Given the description of an element on the screen output the (x, y) to click on. 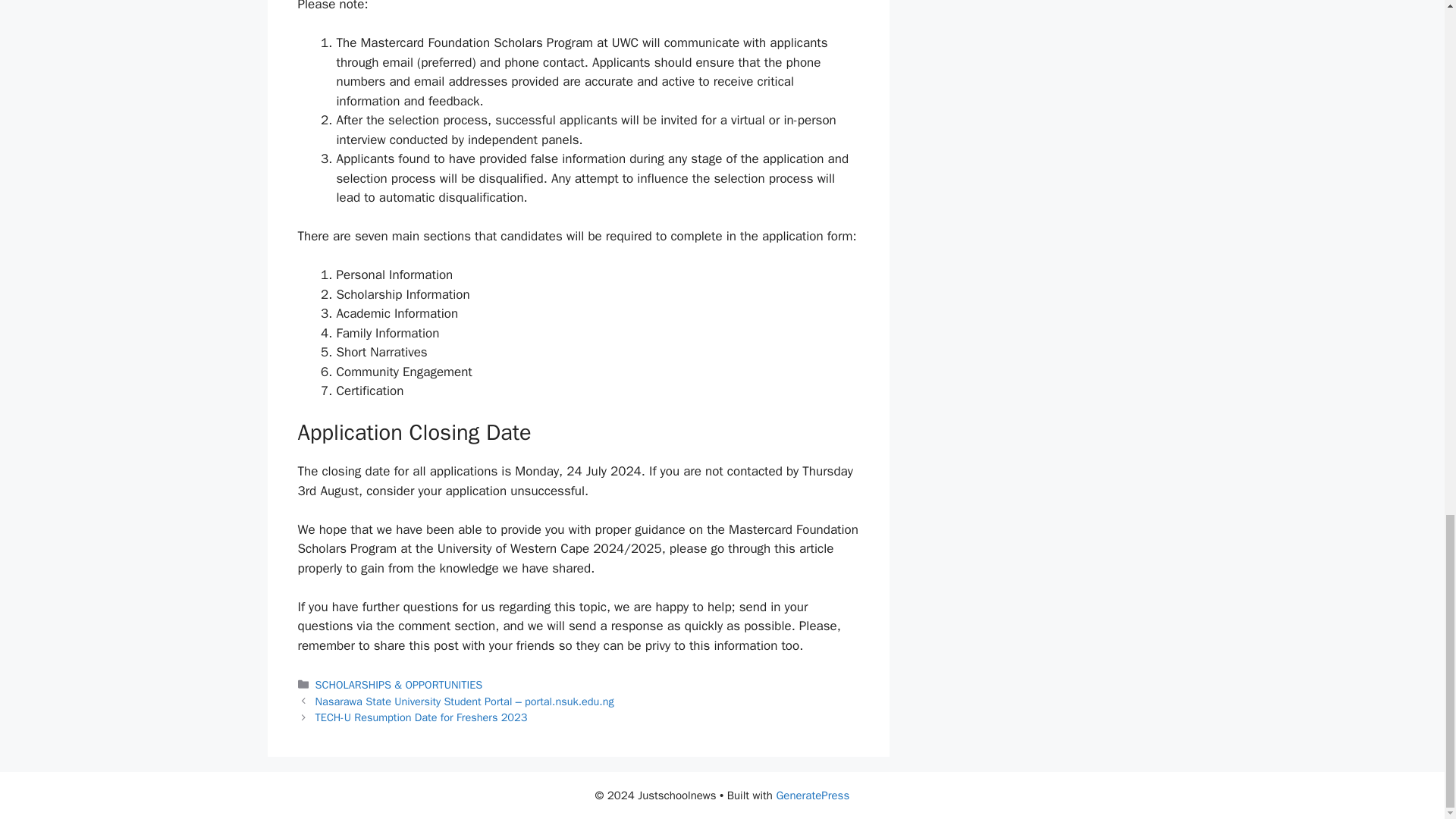
GeneratePress (812, 795)
TECH-U Resumption Date for Freshers 2023 (421, 716)
